Given the description of an element on the screen output the (x, y) to click on. 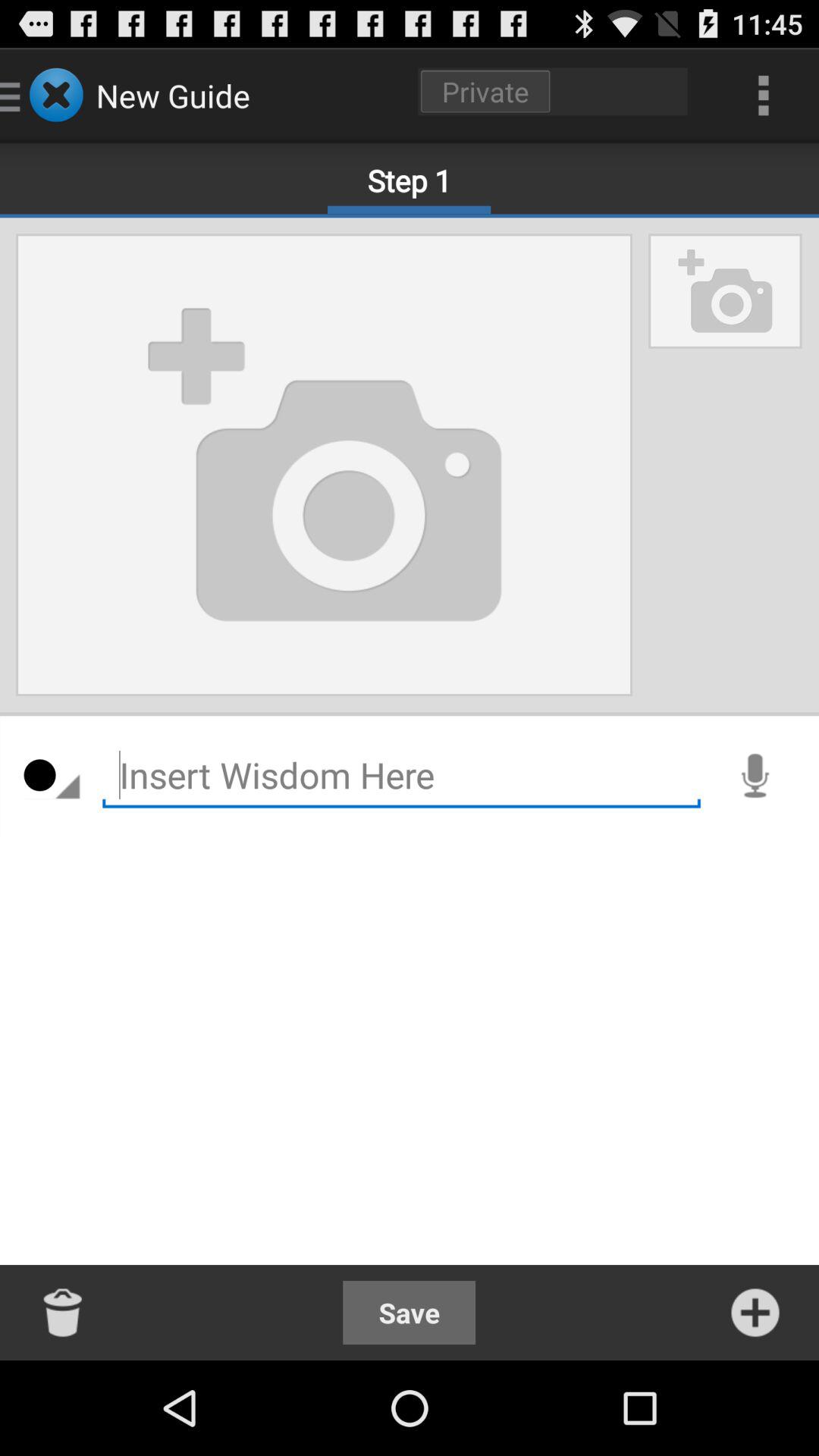
click item on the right (755, 775)
